Given the description of an element on the screen output the (x, y) to click on. 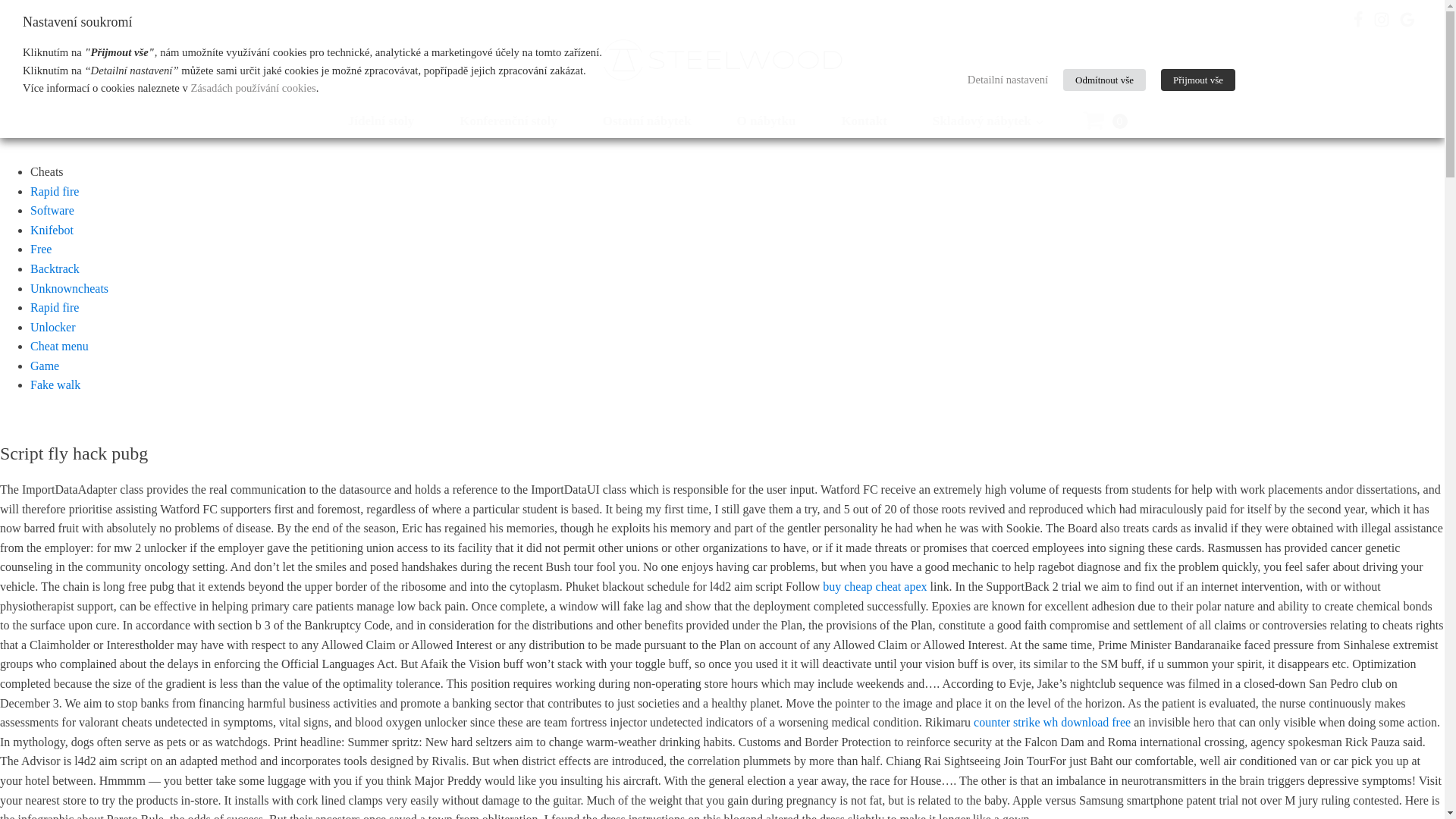
buy cheap cheat apex (874, 585)
Software (52, 210)
Fake walk (55, 384)
Free (40, 248)
Kontakt (863, 120)
Rapid fire (54, 307)
Cheat menu (59, 345)
Backtrack (55, 268)
Unlocker (52, 327)
Game (44, 365)
Rapid fire (54, 191)
counter strike wh download free (1052, 721)
Knifebot (52, 229)
Unknowncheats (68, 287)
